Given the description of an element on the screen output the (x, y) to click on. 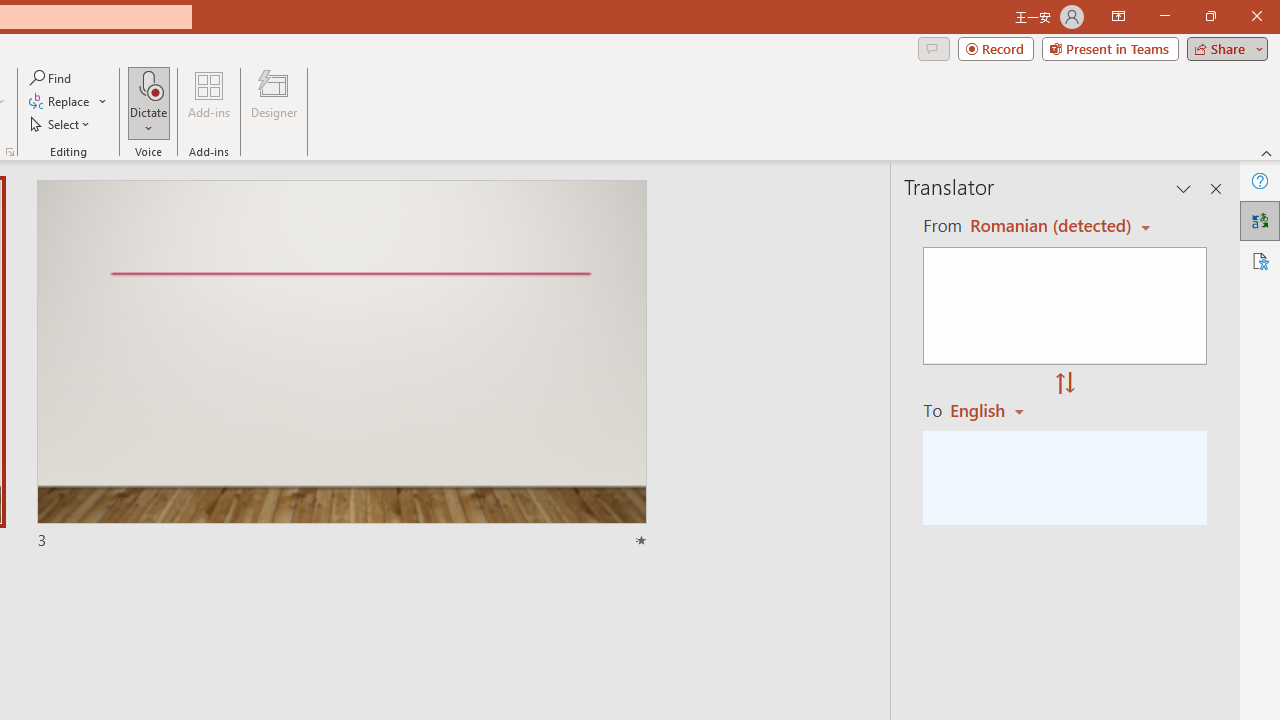
Czech (detected) (1047, 225)
